Given the description of an element on the screen output the (x, y) to click on. 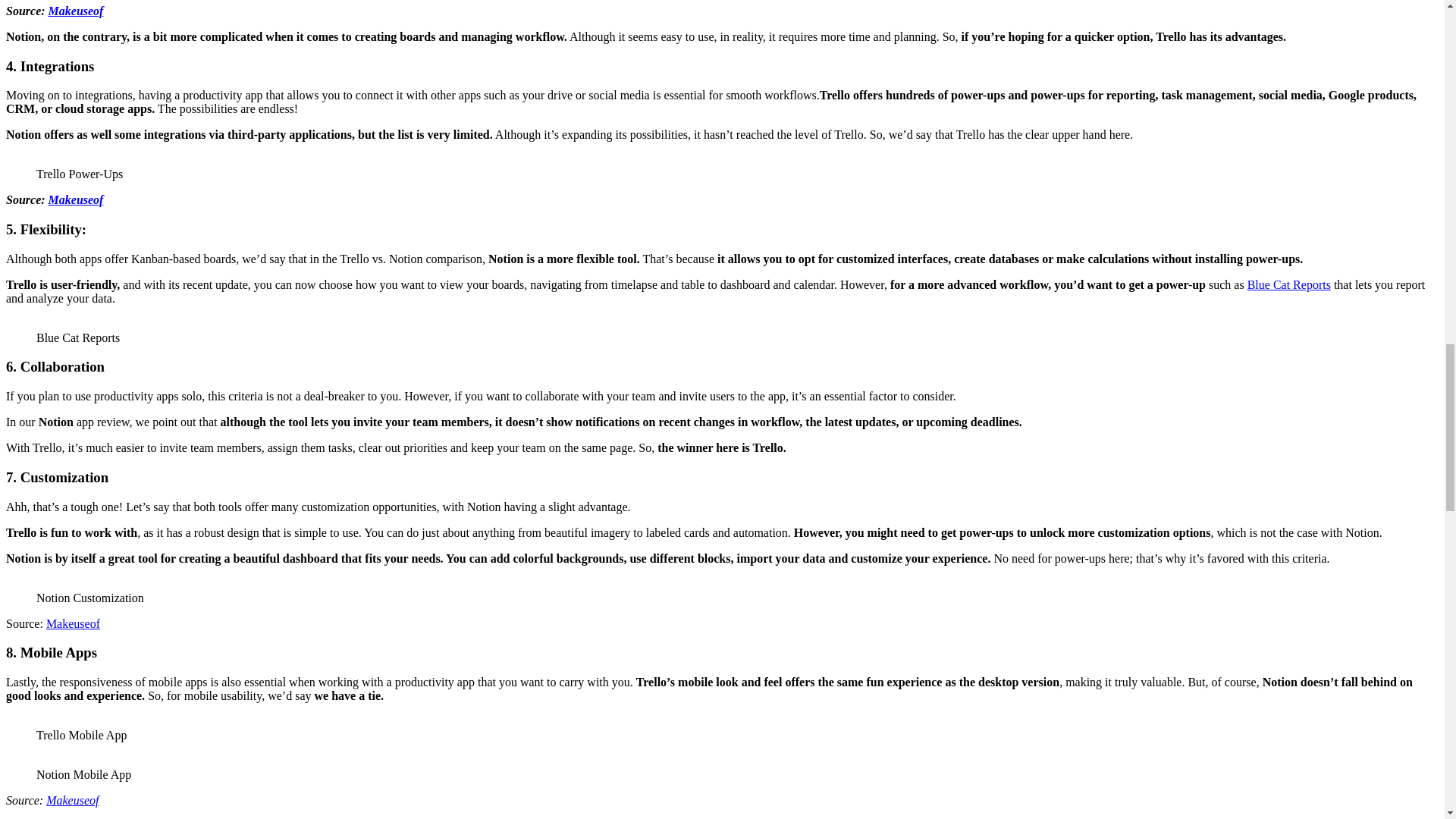
Makeuseof (75, 199)
Makeuseof (72, 799)
Makeuseof (73, 623)
Makeuseof (75, 10)
Blue Cat Reports (1288, 284)
